Given the description of an element on the screen output the (x, y) to click on. 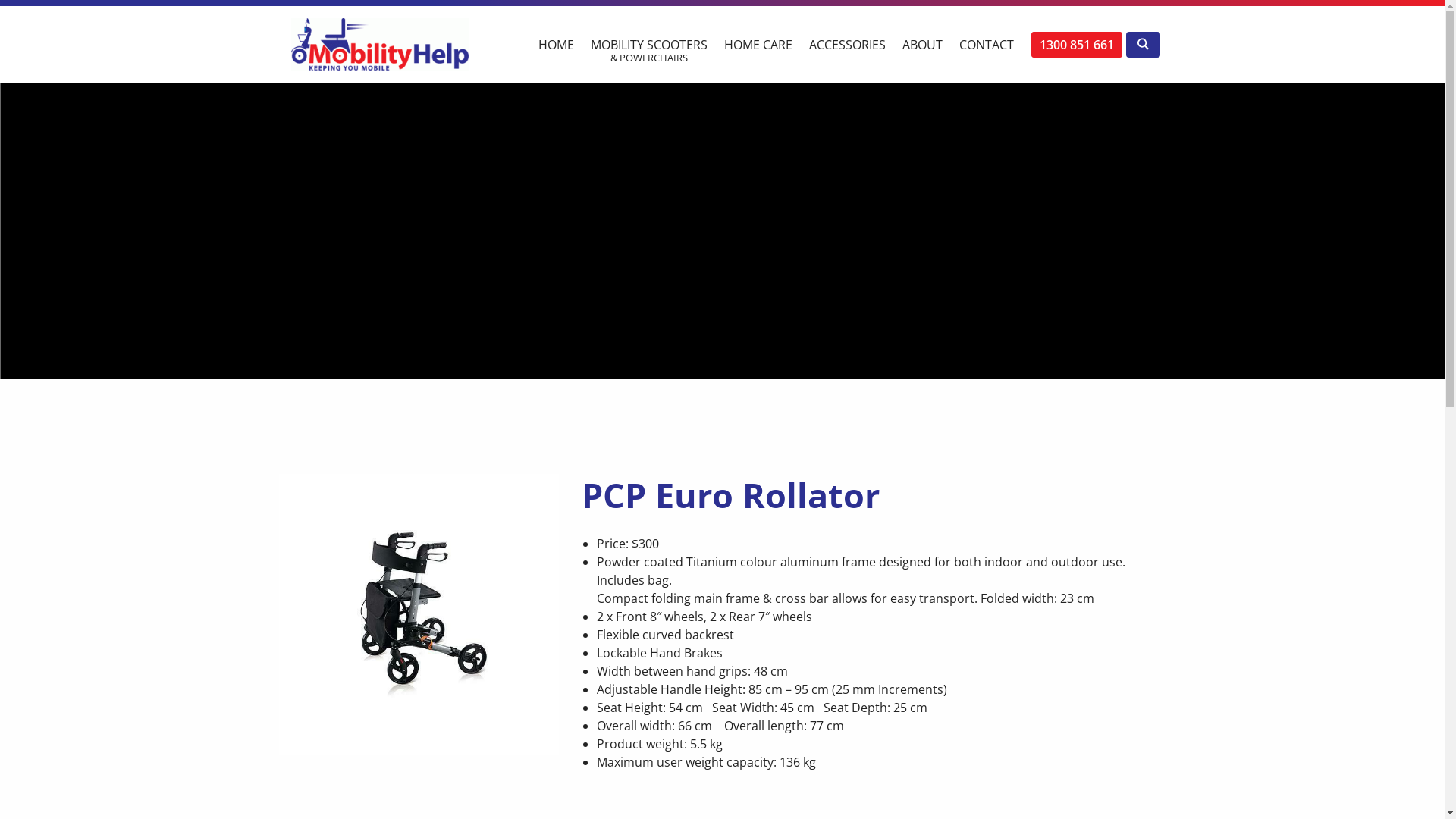
HOME Element type: text (555, 36)
ACCESSORIES Element type: text (847, 36)
ABOUT Element type: text (921, 36)
HOME CARE Element type: text (757, 36)
1300 851 661 Element type: text (1076, 44)
CONTACT Element type: text (986, 36)
MOBILITY SCOOTERS
& POWERCHAIRS Element type: text (648, 44)
